Given the description of an element on the screen output the (x, y) to click on. 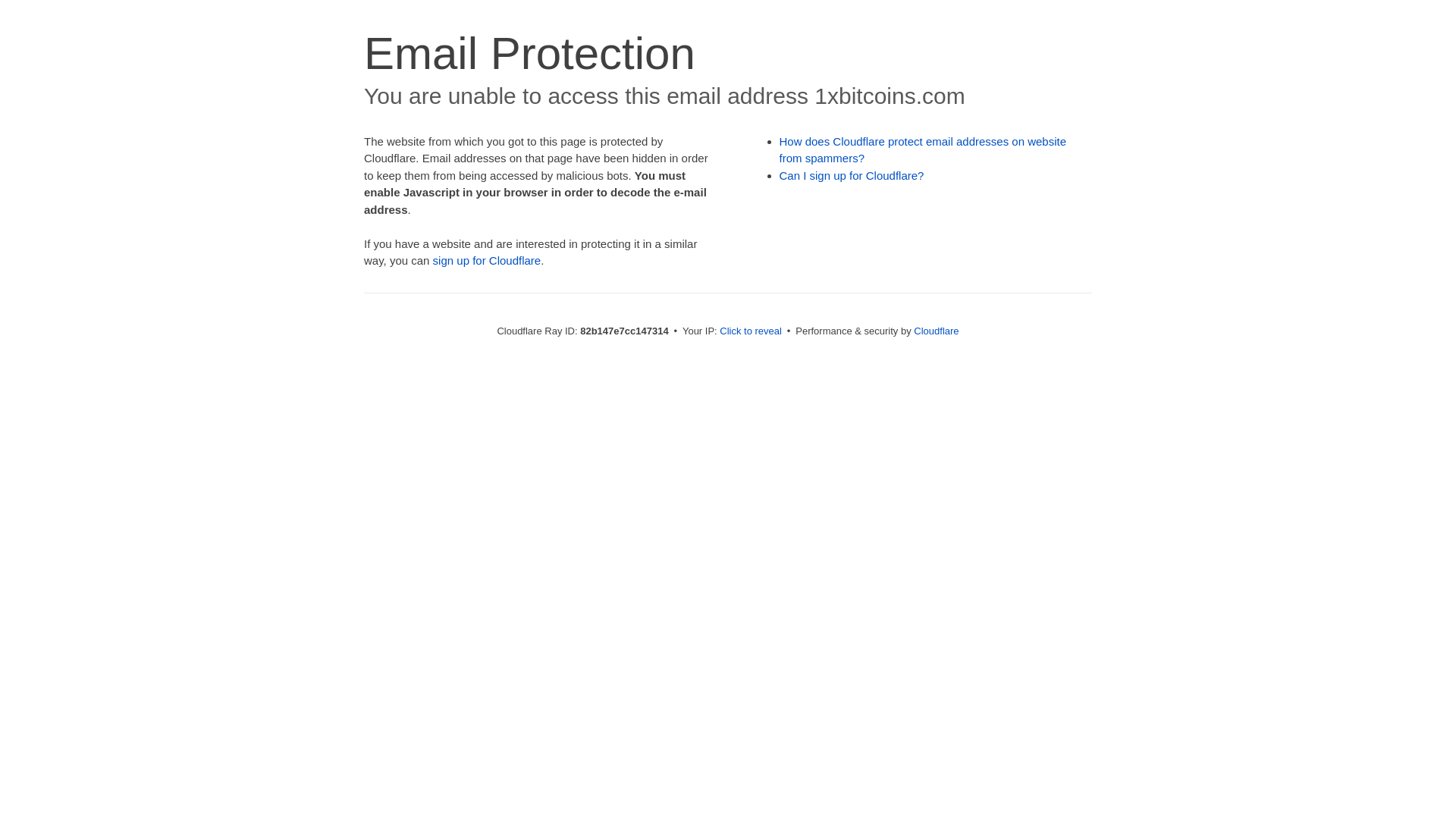
sign up for Cloudflare Element type: text (487, 260)
Cloudflare Element type: text (935, 330)
Can I sign up for Cloudflare? Element type: text (851, 175)
Click to reveal Element type: text (750, 330)
